Given the description of an element on the screen output the (x, y) to click on. 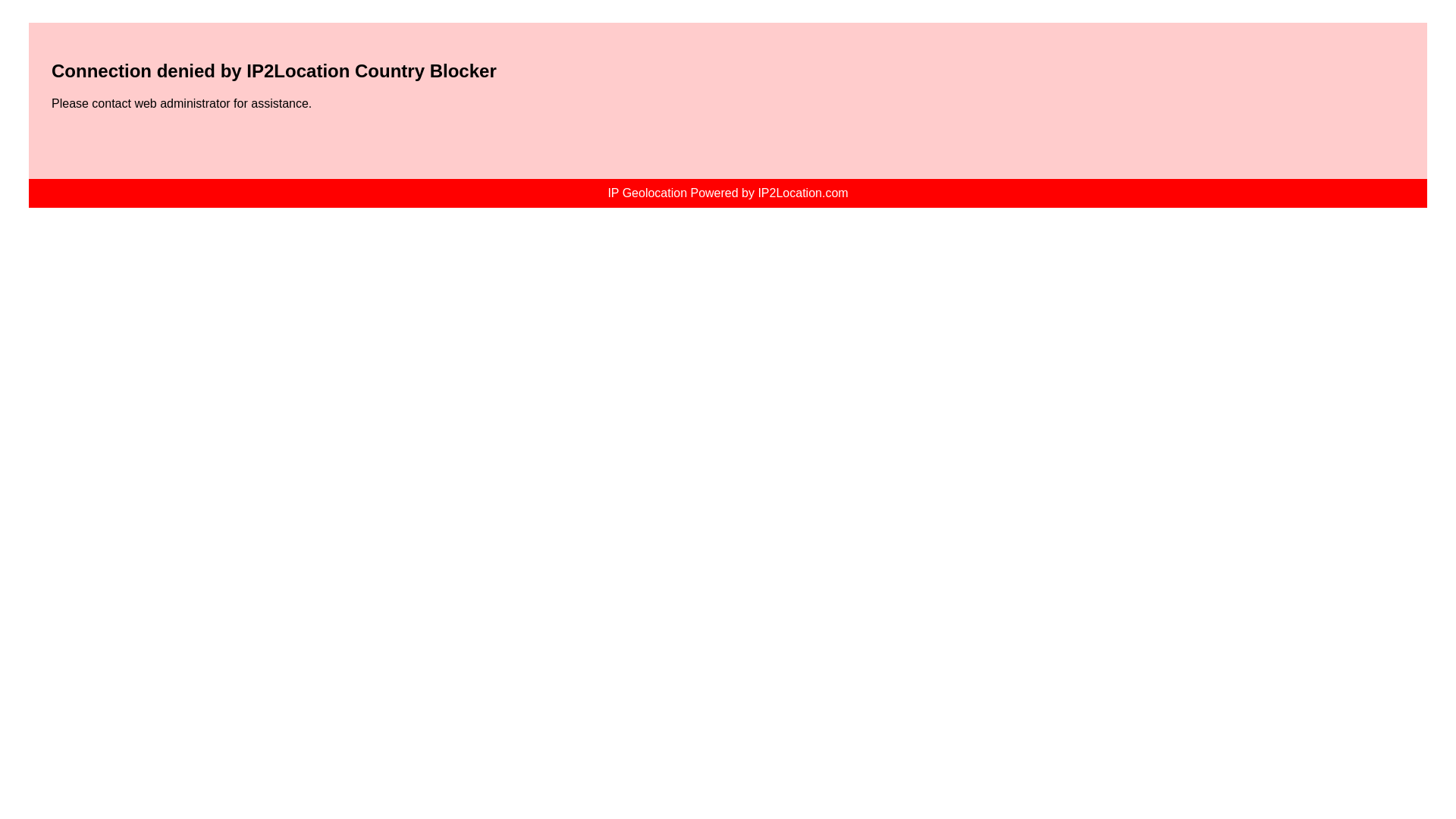
IP Geolocation Powered by IP2Location.com Element type: text (727, 192)
